Given the description of an element on the screen output the (x, y) to click on. 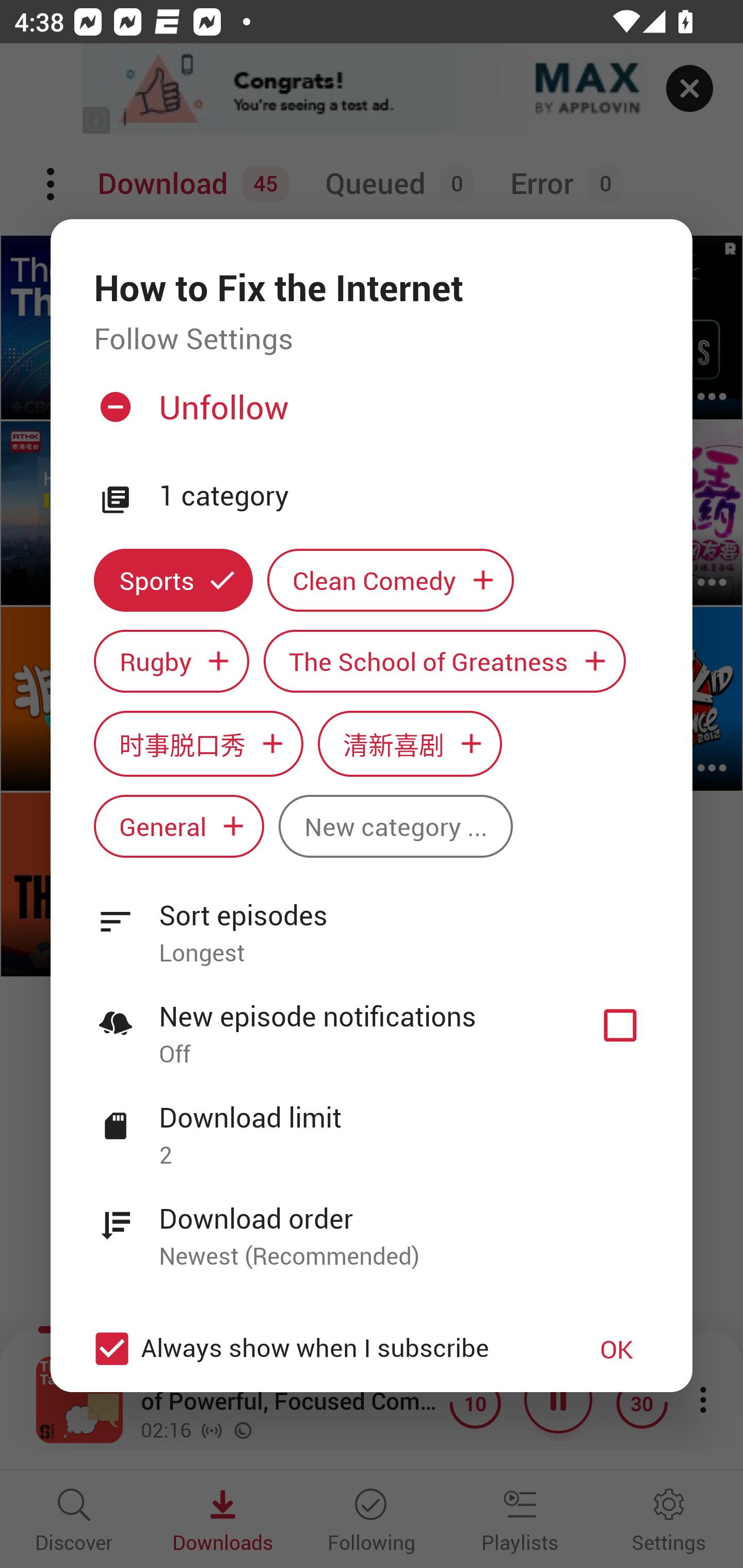
Unfollow (369, 415)
1 category (404, 495)
Sports (172, 579)
Clean Comedy (390, 579)
Rugby (170, 661)
The School of Greatness (444, 661)
时事脱口秀 (198, 743)
清新喜剧 (410, 743)
General (178, 825)
New category ... (395, 825)
Sort episodes Longest (371, 922)
New episode notifications (620, 1025)
Download limit 2 (371, 1125)
Download order Newest (Recommended) (371, 1226)
OK (616, 1349)
Always show when I subscribe (320, 1349)
